Given the description of an element on the screen output the (x, y) to click on. 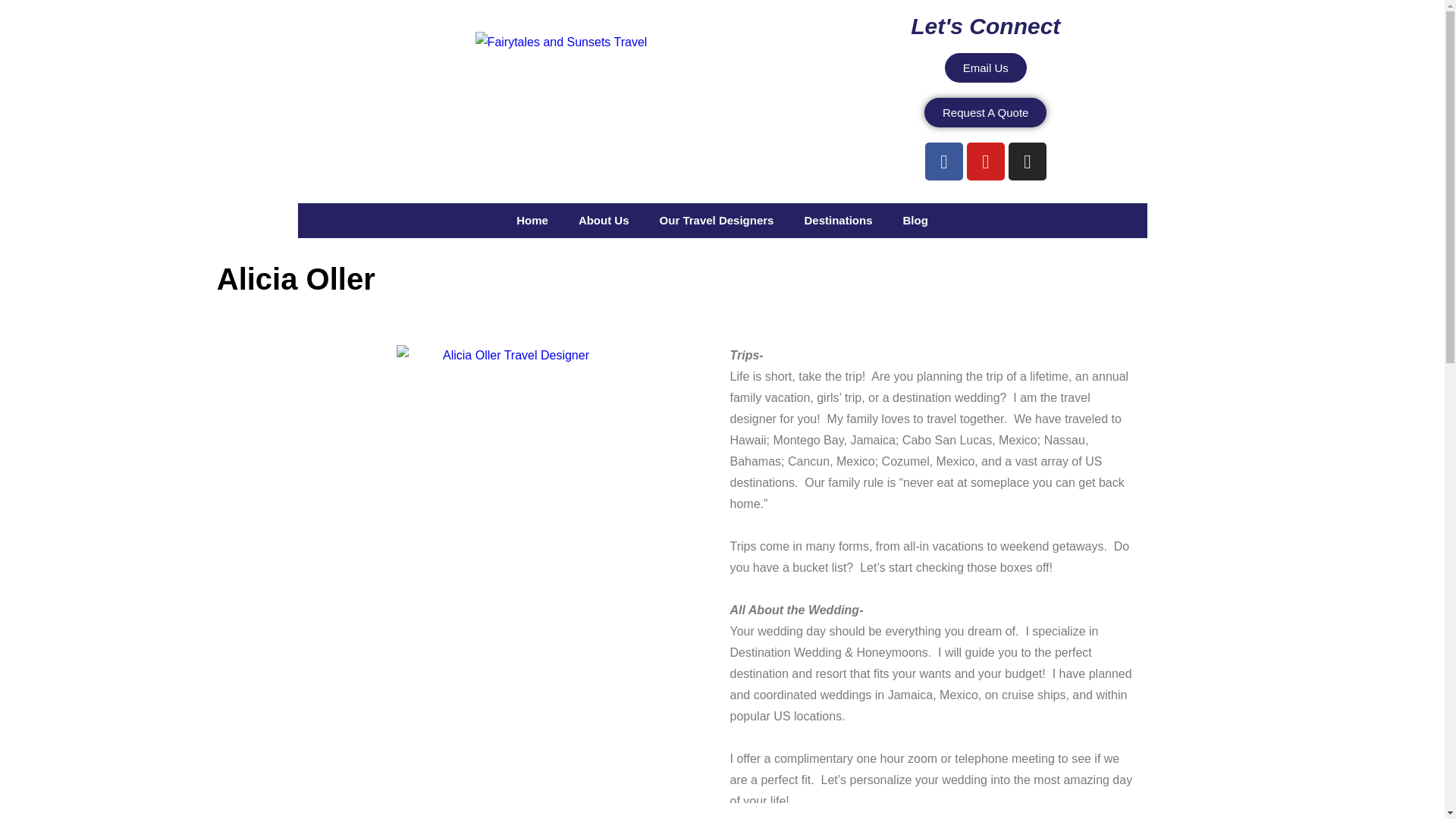
Fairytales and Sunsets Travel (561, 42)
Our Travel Designers (717, 220)
Blog (914, 220)
Email Us (985, 67)
Request A Quote (985, 112)
Destinations (837, 220)
About Us (604, 220)
Home (531, 220)
